Given the description of an element on the screen output the (x, y) to click on. 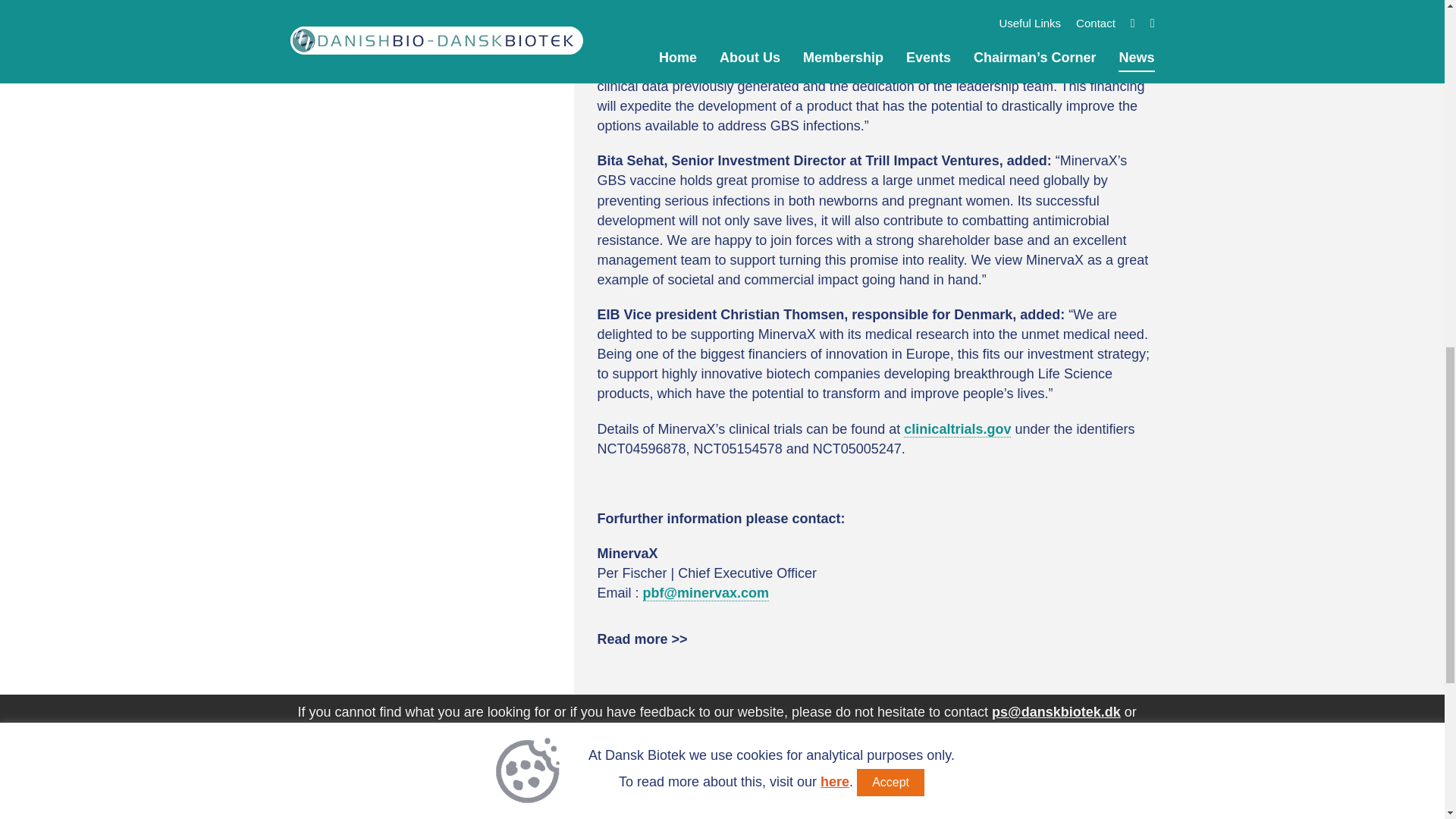
clinicaltrials.gov (957, 429)
